Given the description of an element on the screen output the (x, y) to click on. 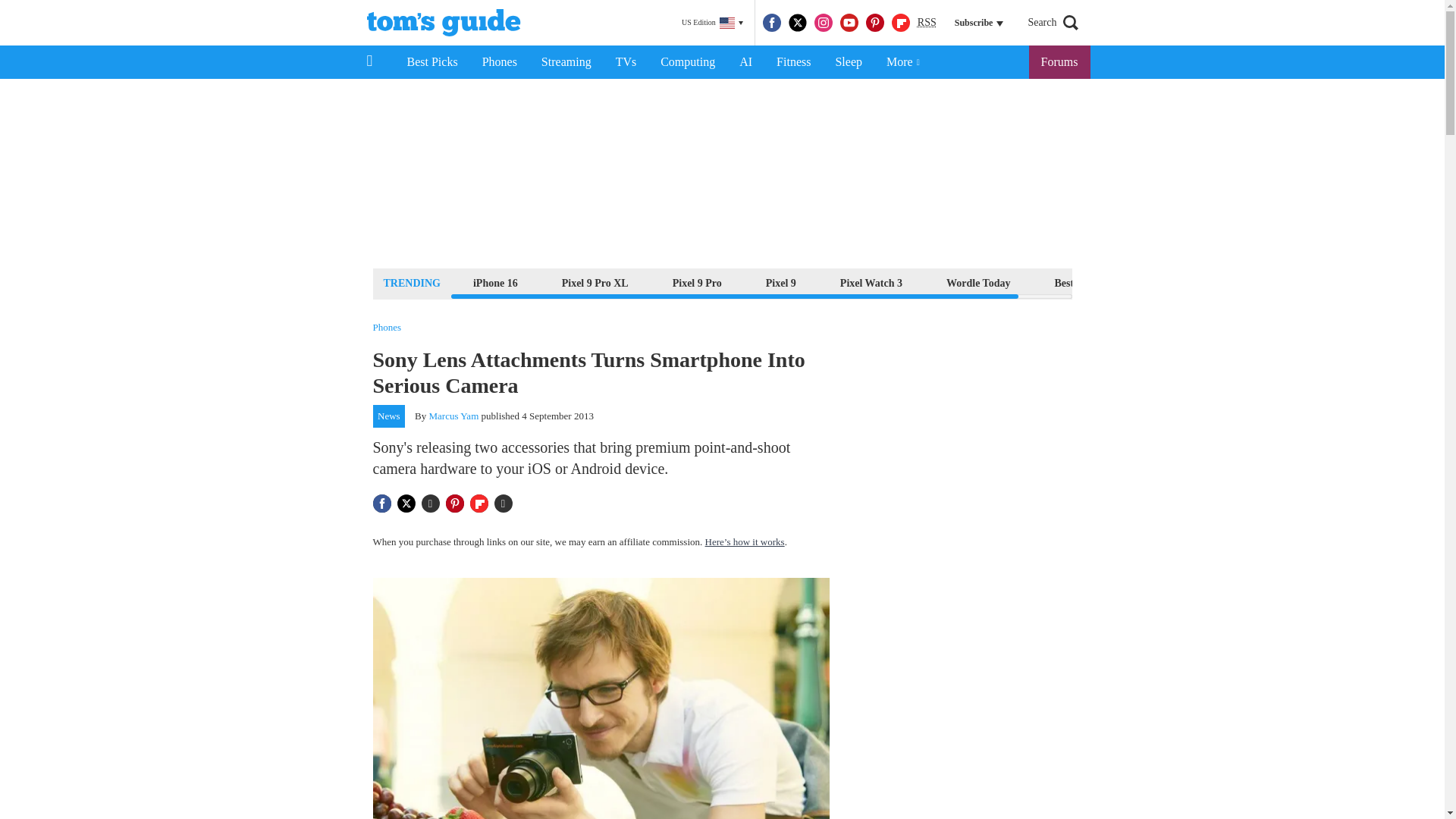
US Edition (712, 22)
AI (745, 61)
Phones (499, 61)
TVs (626, 61)
Sleep (848, 61)
Streaming (566, 61)
RSS (926, 22)
Computing (686, 61)
Fitness (793, 61)
Really Simple Syndication (926, 21)
